Given the description of an element on the screen output the (x, y) to click on. 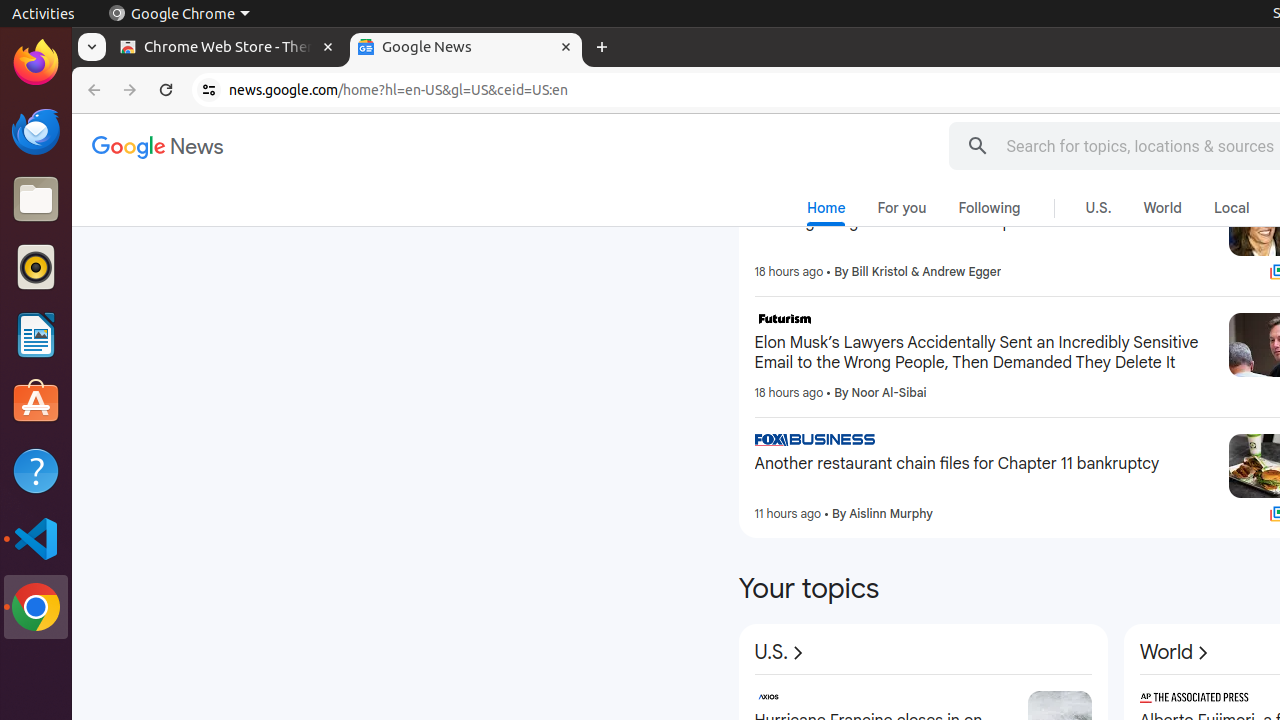
Rhythmbox Element type: push-button (36, 267)
Help Element type: push-button (36, 470)
World Element type: link (1176, 653)
Thunderbird Mail Element type: push-button (36, 131)
Elon Musk’s Lawyers Accidentally Sent an Incredibly Sensitive Email to the Wrong People, Then Demanded They Delete It Element type: link (983, 353)
